Given the description of an element on the screen output the (x, y) to click on. 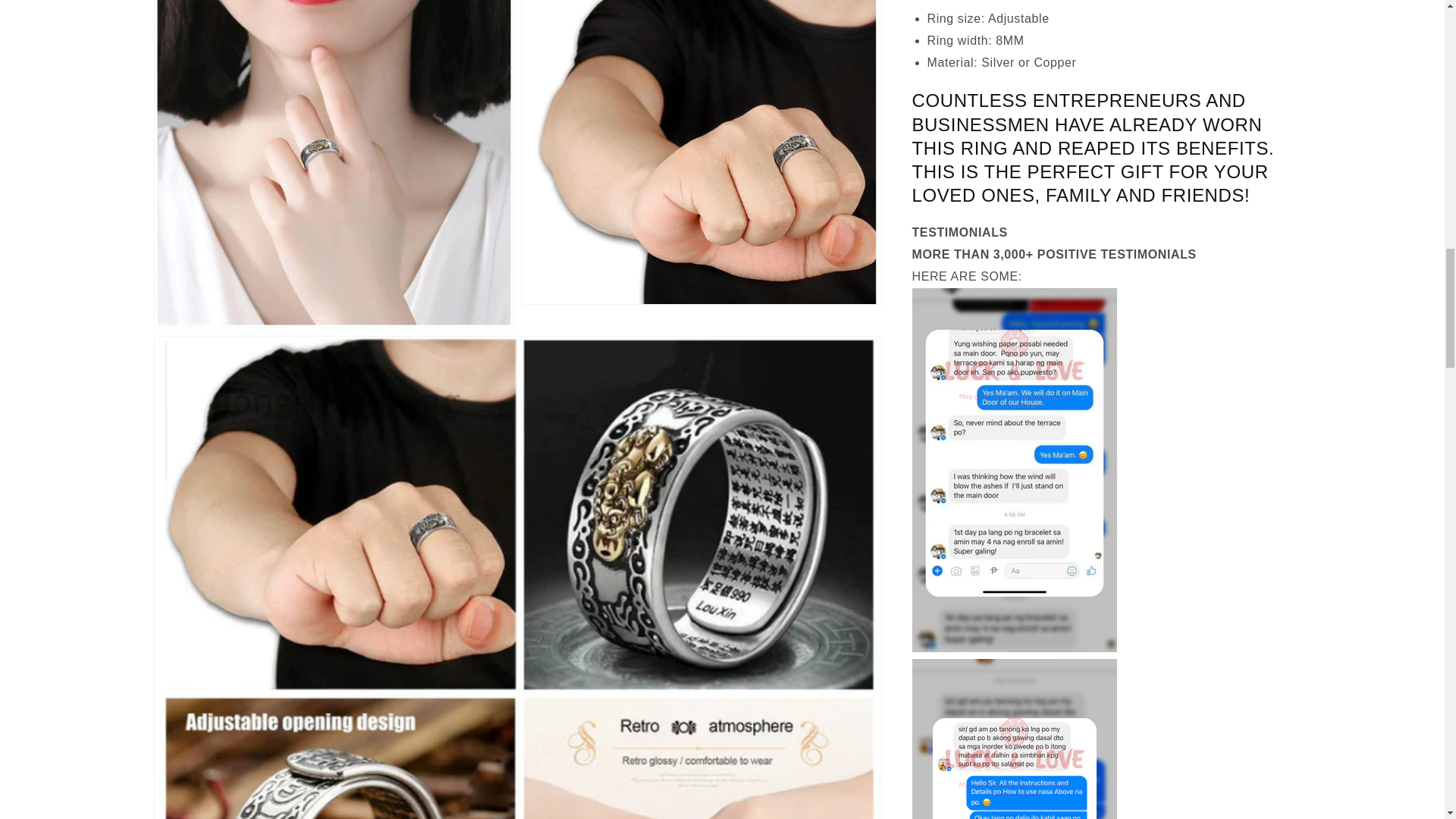
Open media 6 in gallery view (333, 163)
Open media 7 in gallery view (700, 151)
